Given the description of an element on the screen output the (x, y) to click on. 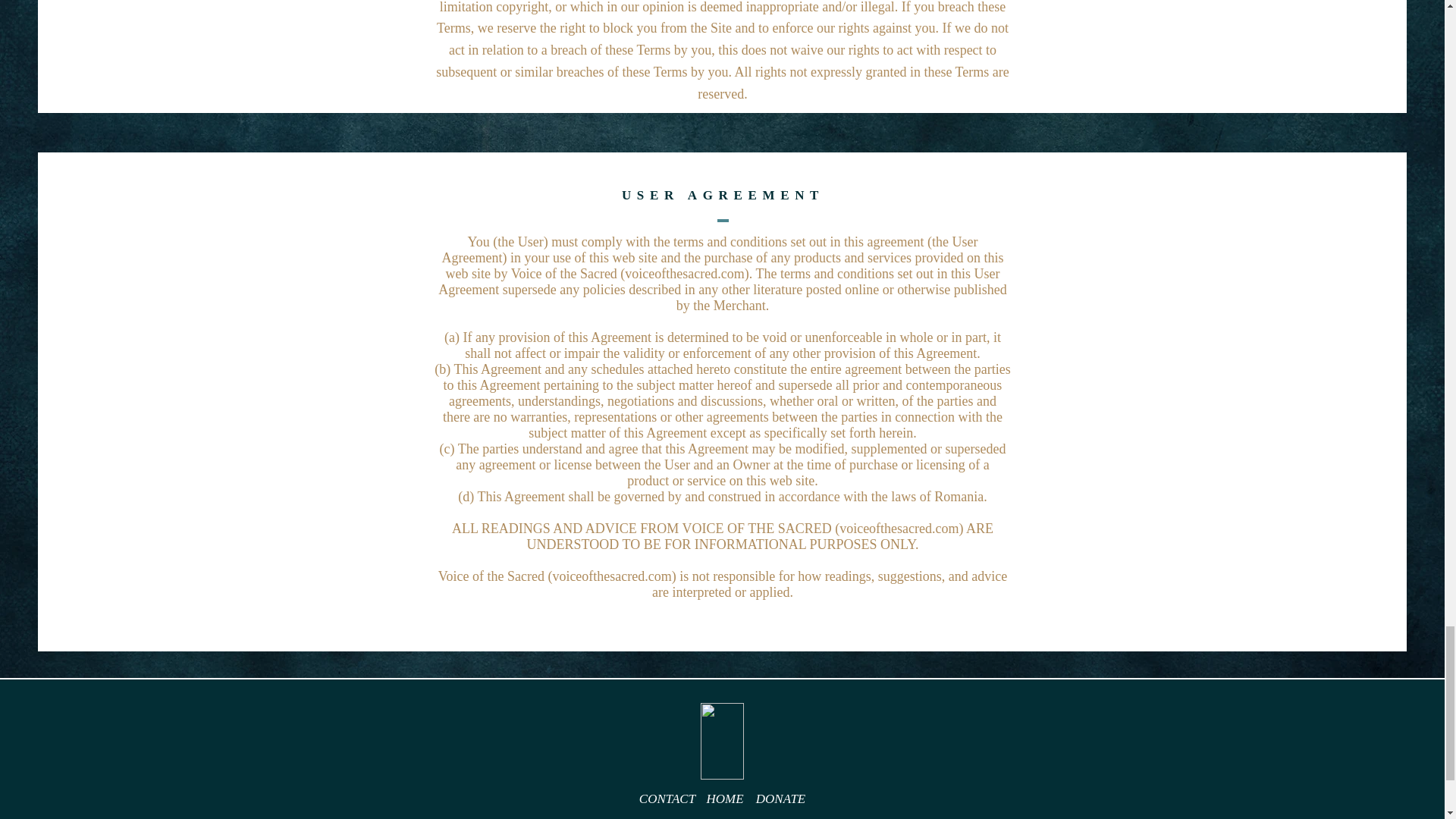
CONTACT (667, 798)
HOME (724, 798)
DONATE (780, 798)
